Given the description of an element on the screen output the (x, y) to click on. 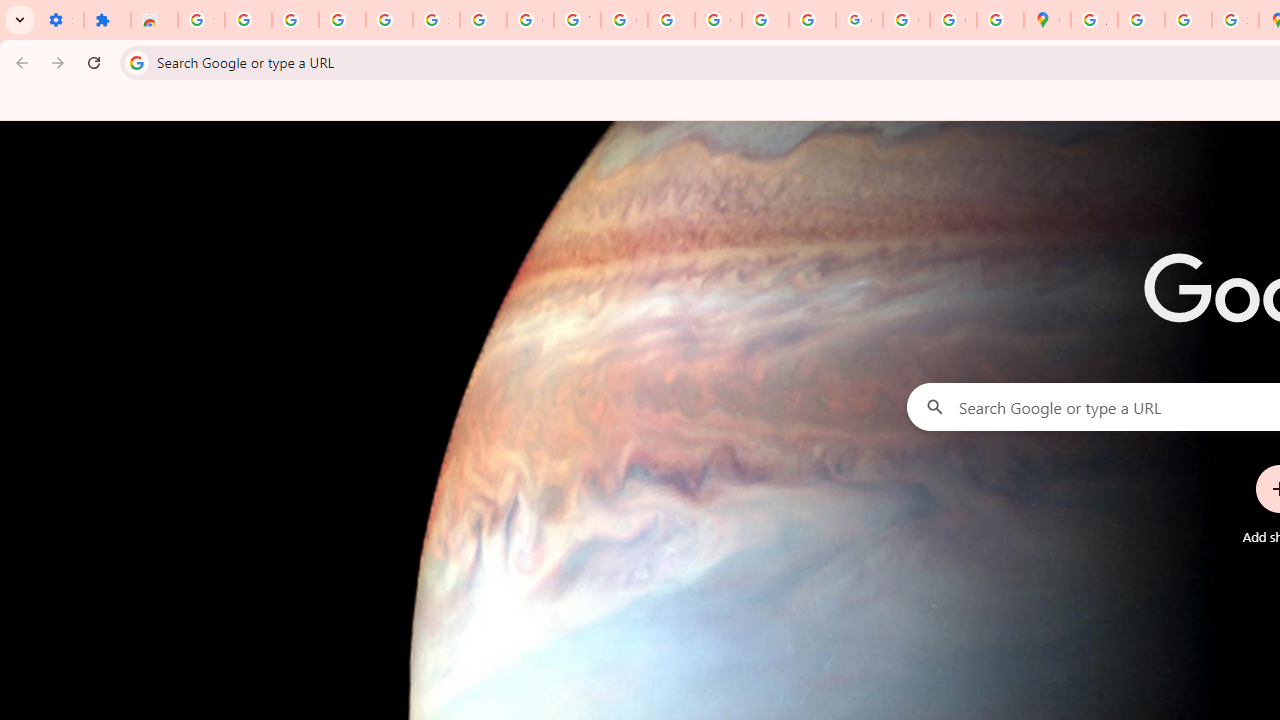
Sign in - Google Accounts (436, 20)
Delete photos & videos - Computer - Google Photos Help (294, 20)
Sign in - Google Accounts (201, 20)
